Given the description of an element on the screen output the (x, y) to click on. 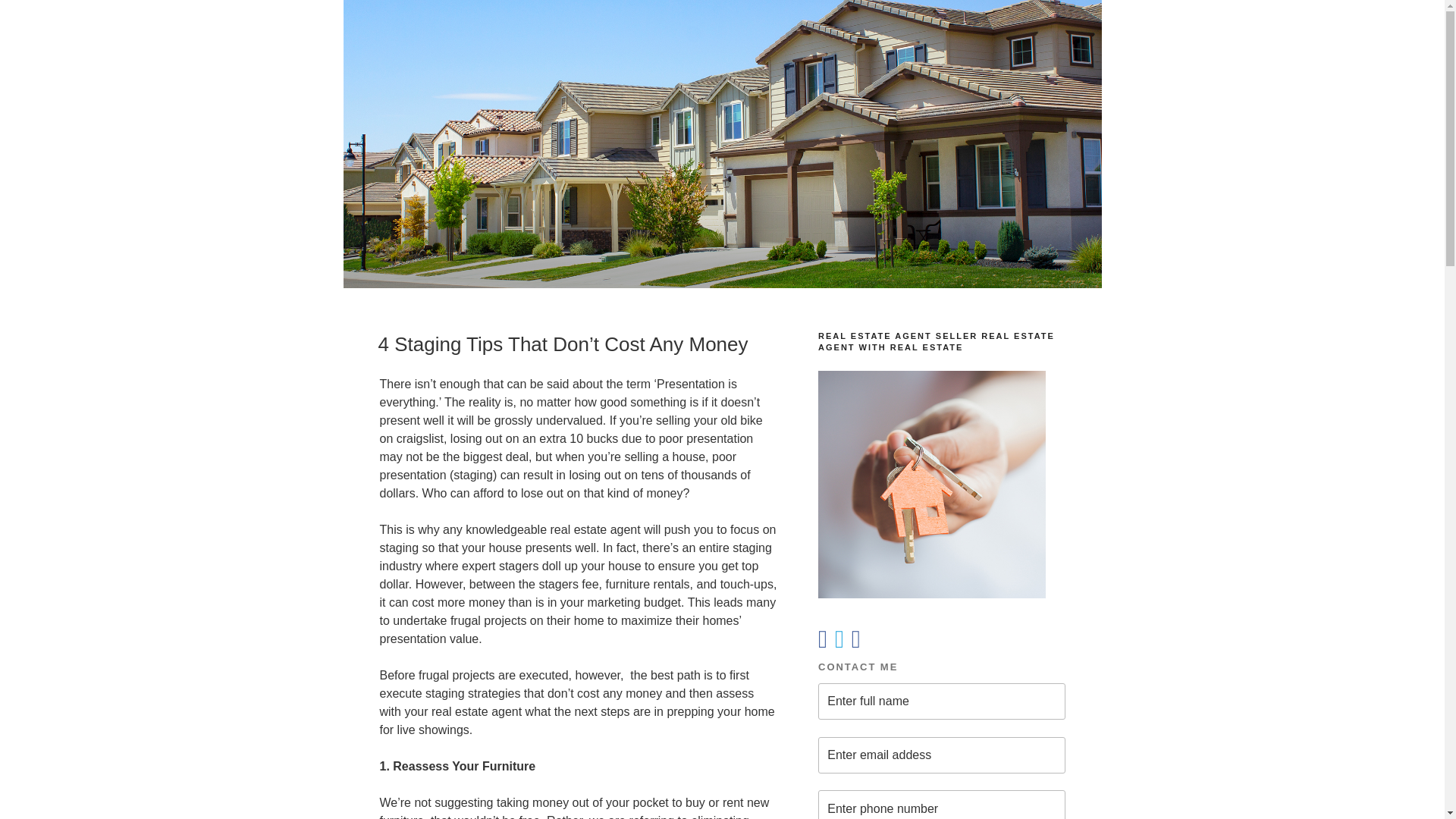
REAL ESTATE AGENT SELLER REAL ESTATE AGENT WITH REAL ESTATE (941, 465)
